Given the description of an element on the screen output the (x, y) to click on. 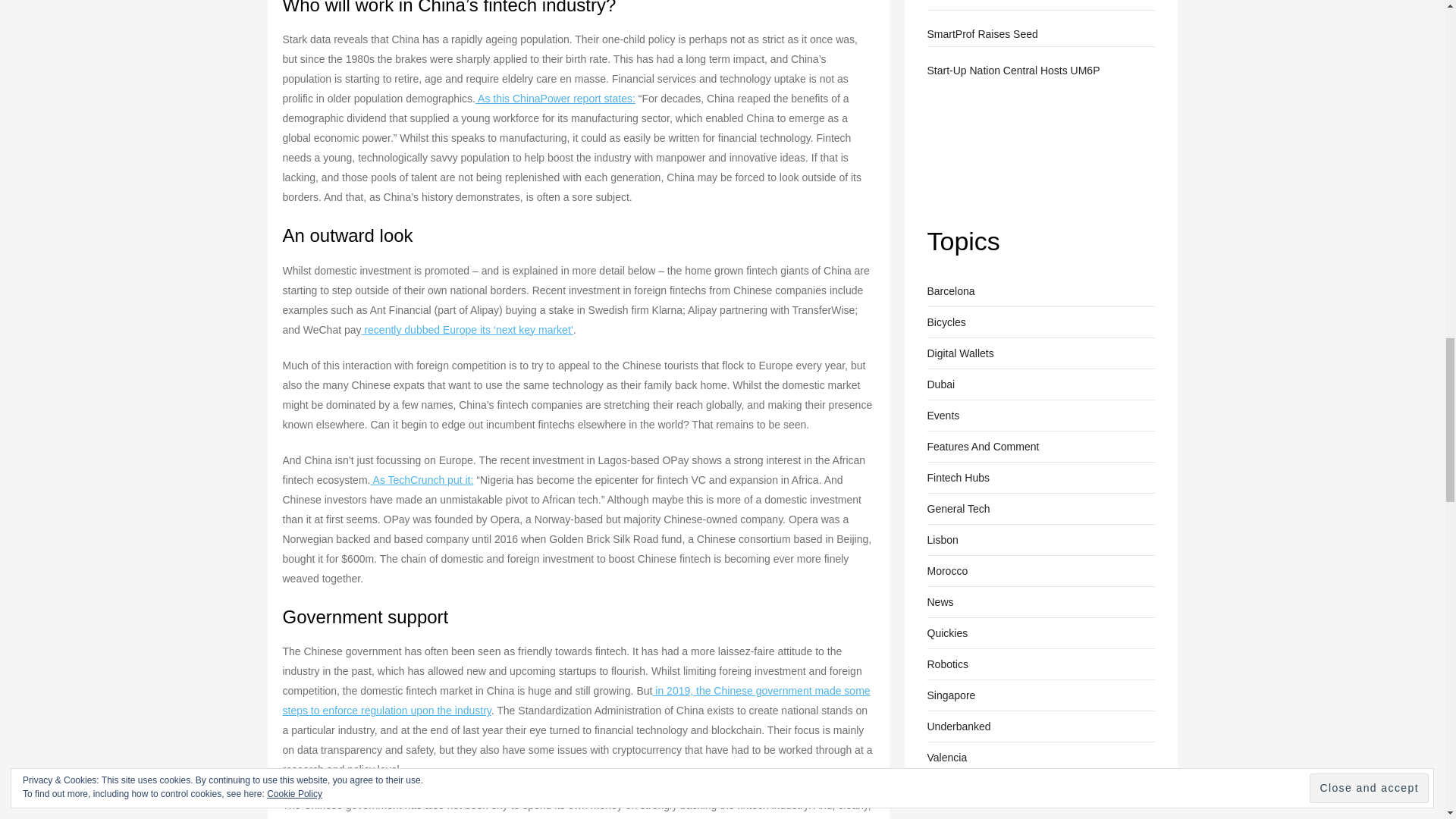
Start-Up Nation Central hosts UM6P (983, 144)
As this ChinaPower report states: (555, 98)
General tech (958, 508)
As TechCrunch put it: (421, 480)
portugal (942, 539)
fintech hubs (957, 477)
Digital wallets (959, 353)
